Given the description of an element on the screen output the (x, y) to click on. 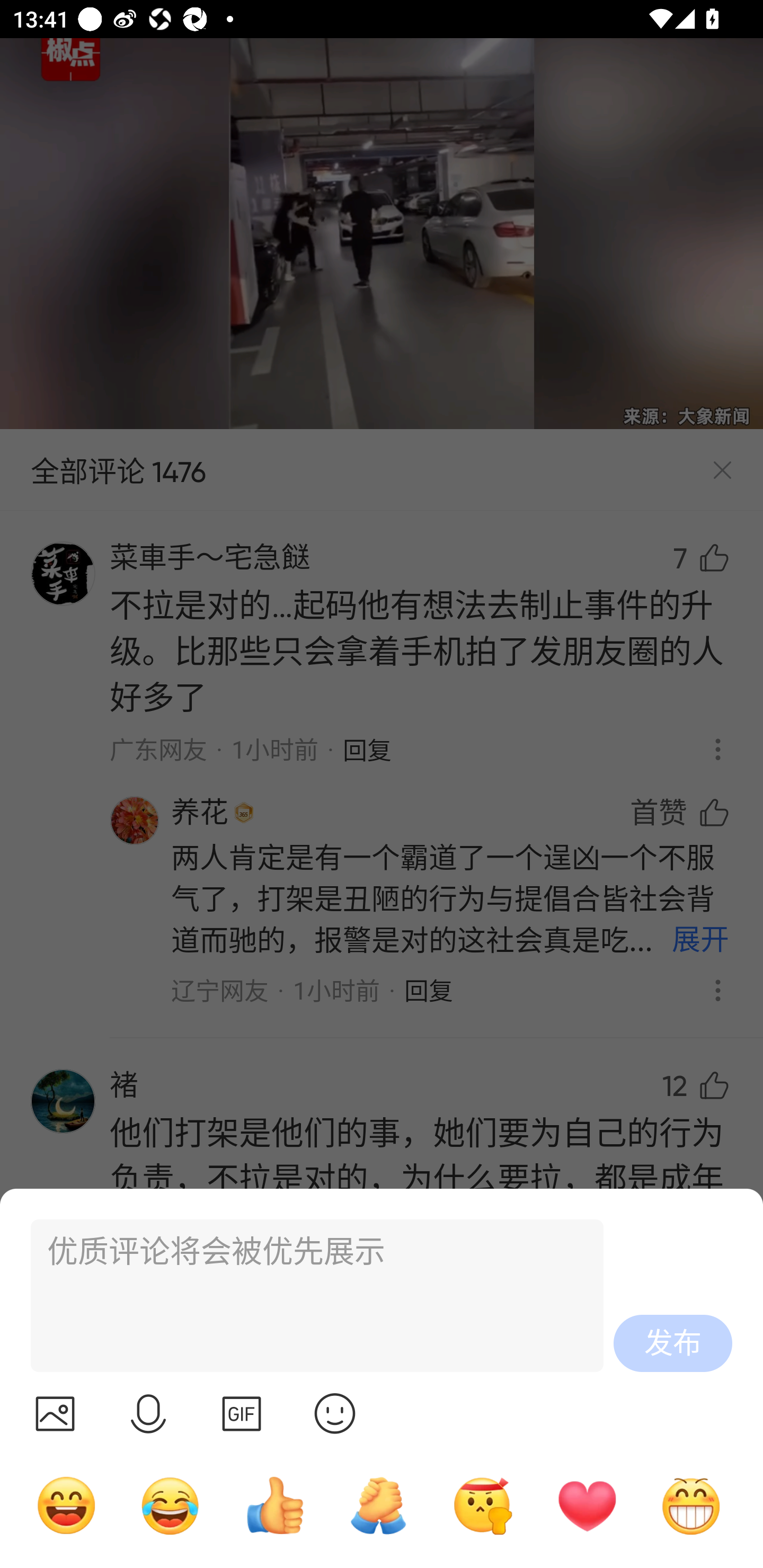
优质评论将会被优先展示 (308, 1295)
发布 (672, 1343)
 (54, 1413)
 (148, 1413)
 (241, 1413)
 (334, 1413)
哈哈 (66, 1505)
哭笑 (170, 1505)
点赞 (274, 1505)
加油 (378, 1505)
奋斗 (482, 1505)
心 (586, 1505)
呲牙 (690, 1505)
